Given the description of an element on the screen output the (x, y) to click on. 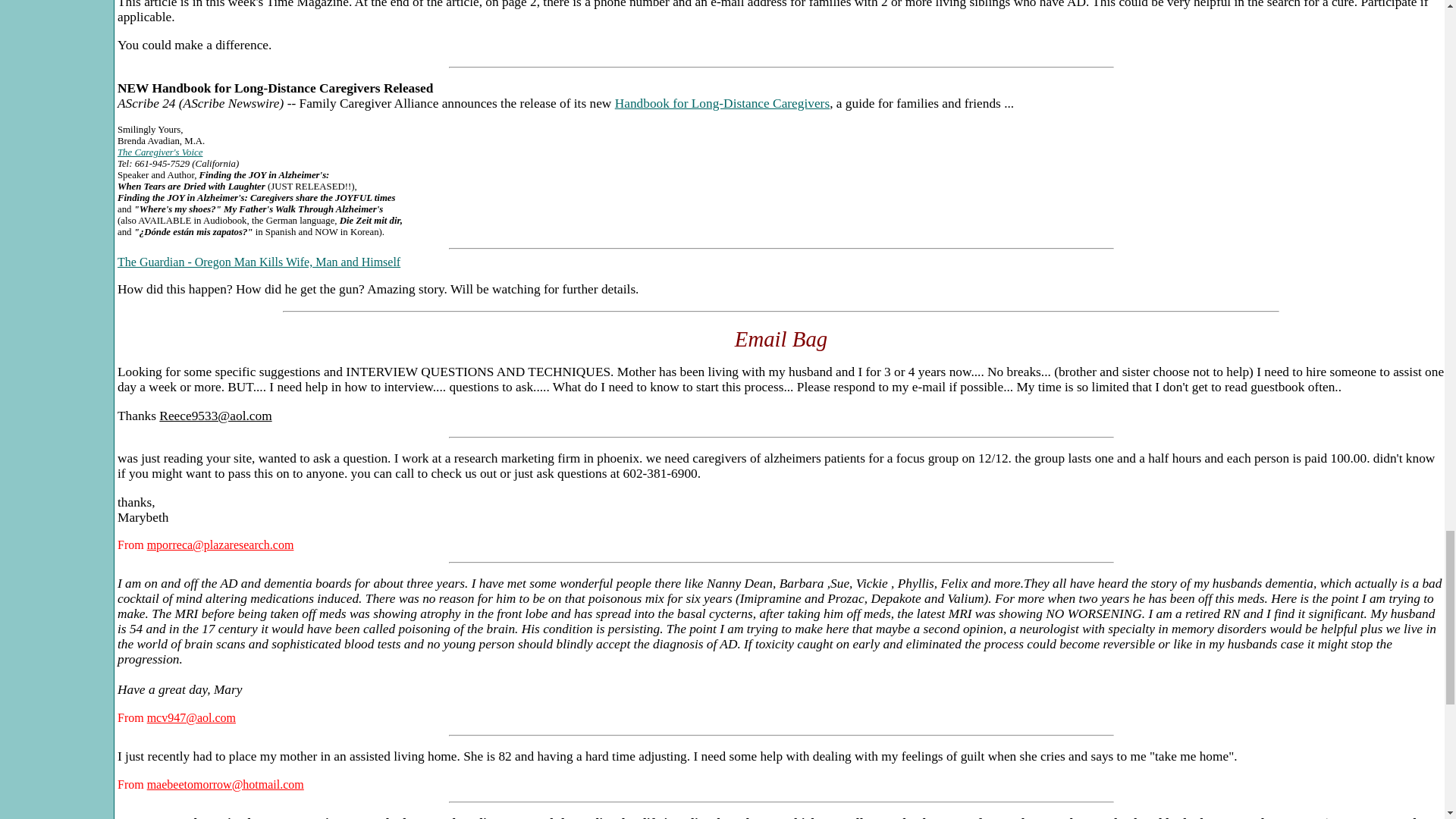
Send Email to Mary (191, 717)
Send Email to Reece (214, 415)
The Caregiver's Voice (159, 152)
Send Email to MaryBeth (220, 544)
The Guardian - Oregon Man Kills Wife, Man and Himself (258, 261)
TheCaregiversVoice.com (159, 152)
Handbook for Long-Distance Caregivers (721, 103)
